Given the description of an element on the screen output the (x, y) to click on. 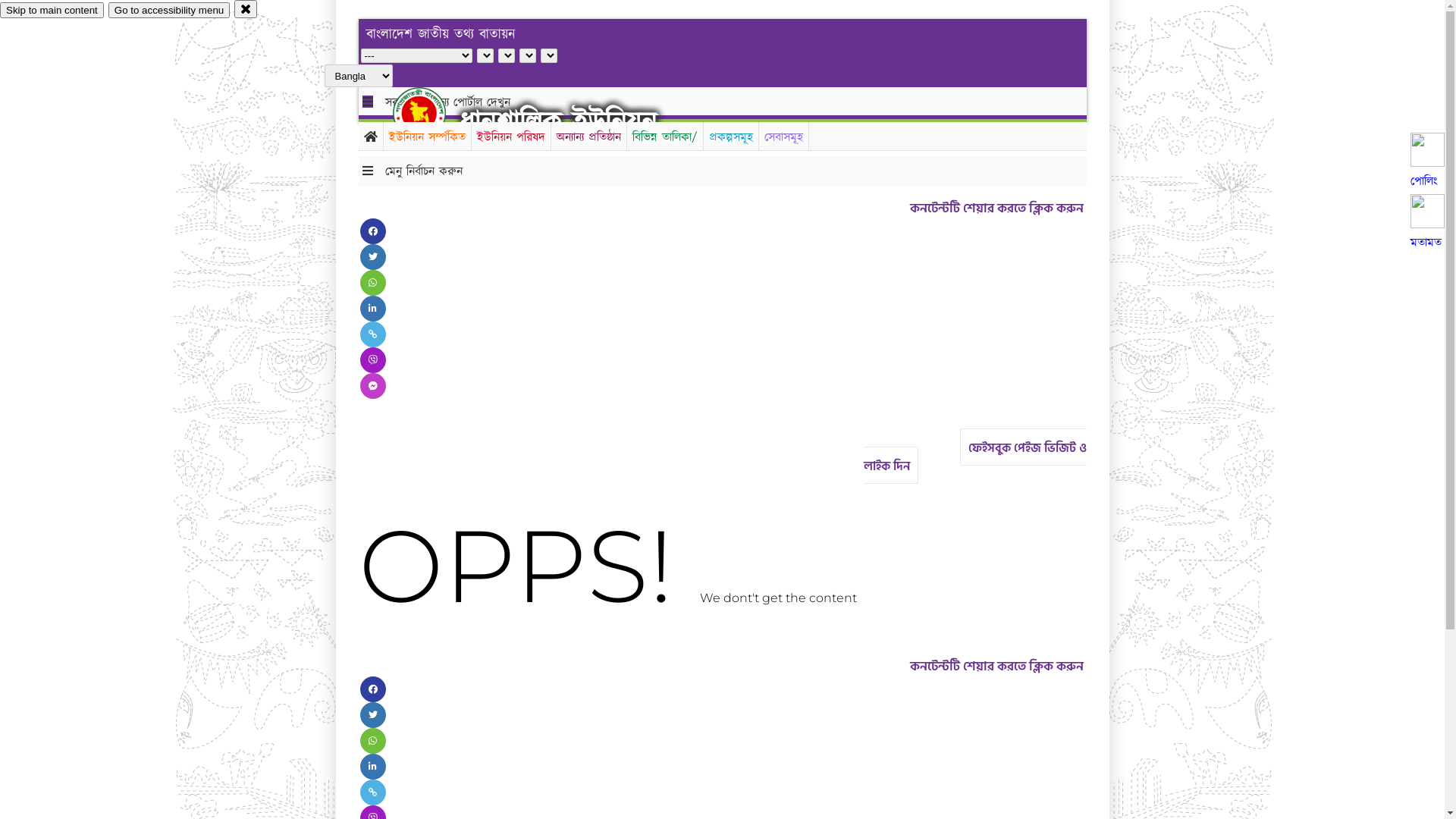
Skip to main content Element type: text (51, 10)
close Element type: hover (245, 9)

                
             Element type: hover (431, 112)
Go to accessibility menu Element type: text (168, 10)
